Given the description of an element on the screen output the (x, y) to click on. 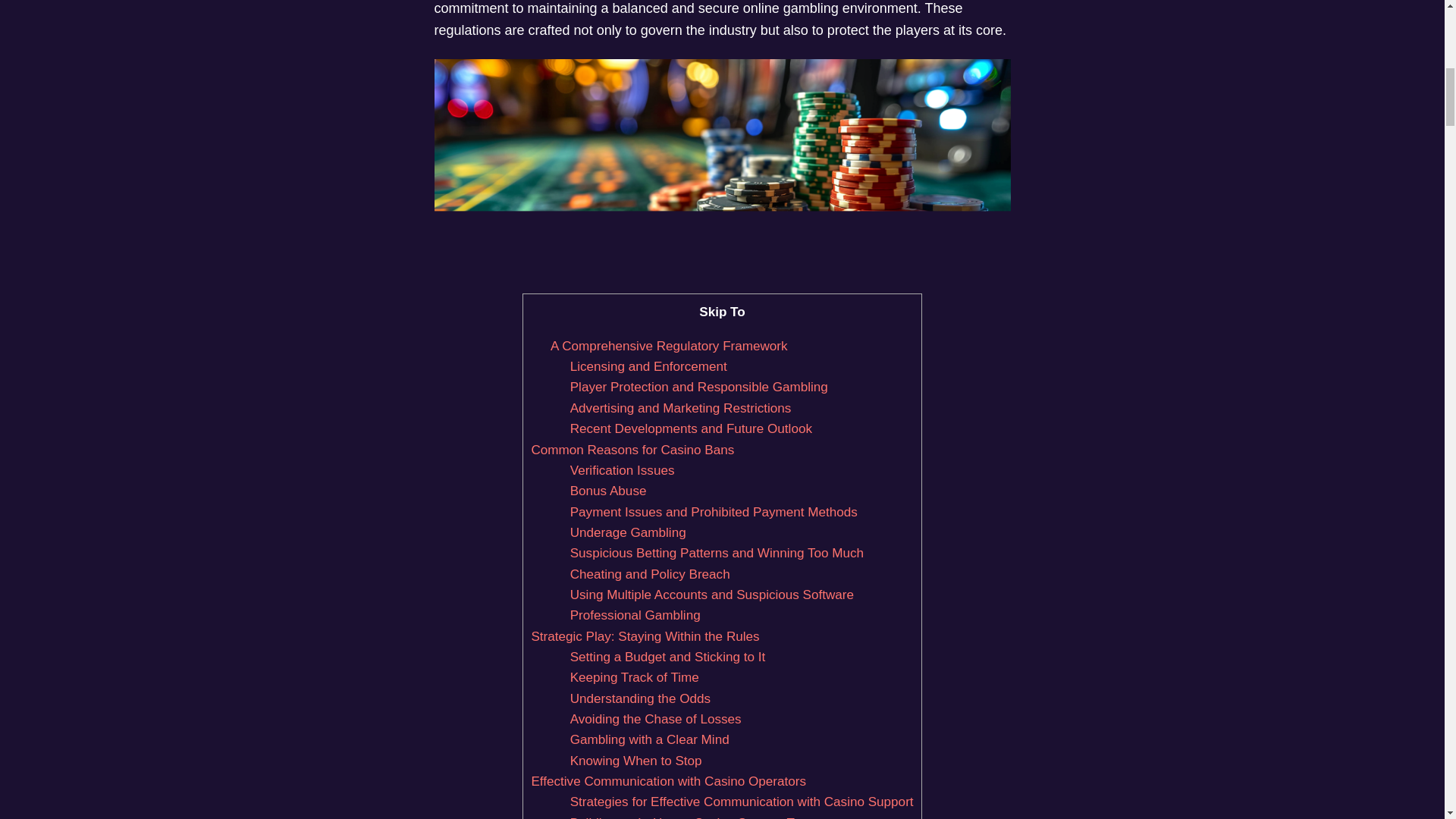
Payment Issues and Prohibited Payment Methods (713, 512)
Advertising and Marketing Restrictions (681, 408)
Understanding the Odds (640, 698)
Recent Developments and Future Outlook (691, 428)
Building an In-House Casino Support Team (694, 817)
Gambling with a Clear Mind (649, 739)
Verification Issues (622, 470)
Common Reasons for Casino Bans (632, 450)
Keeping Track of Time (634, 677)
Effective Communication with Casino Operators (668, 780)
Licensing and Enforcement (648, 366)
Professional Gambling (635, 615)
Strategies for Effective Communication with Casino Support (742, 801)
Cheating and Policy Breach (650, 574)
Knowing When to Stop (635, 760)
